Given the description of an element on the screen output the (x, y) to click on. 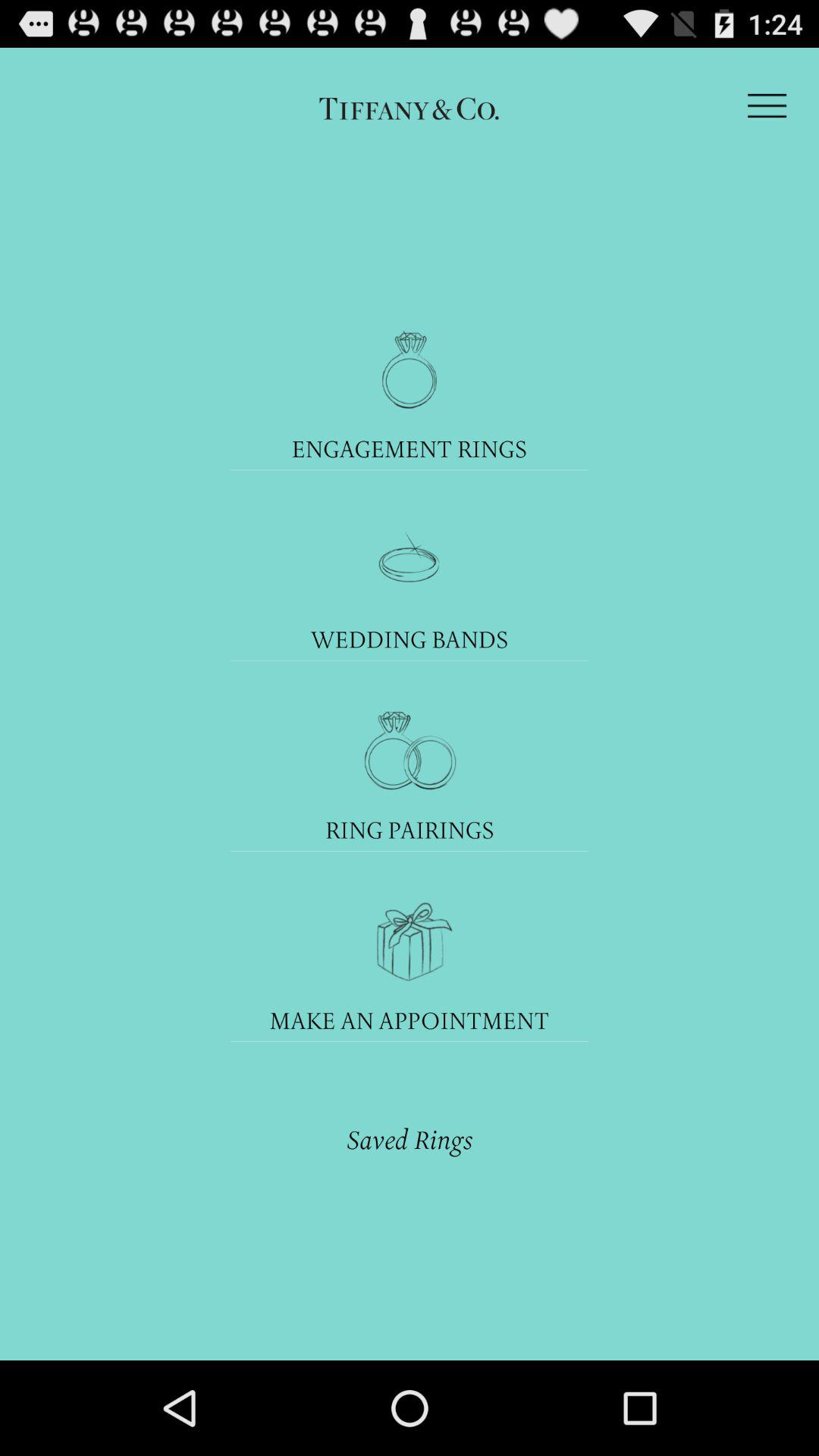
turn on ring pairings item (409, 829)
